Given the description of an element on the screen output the (x, y) to click on. 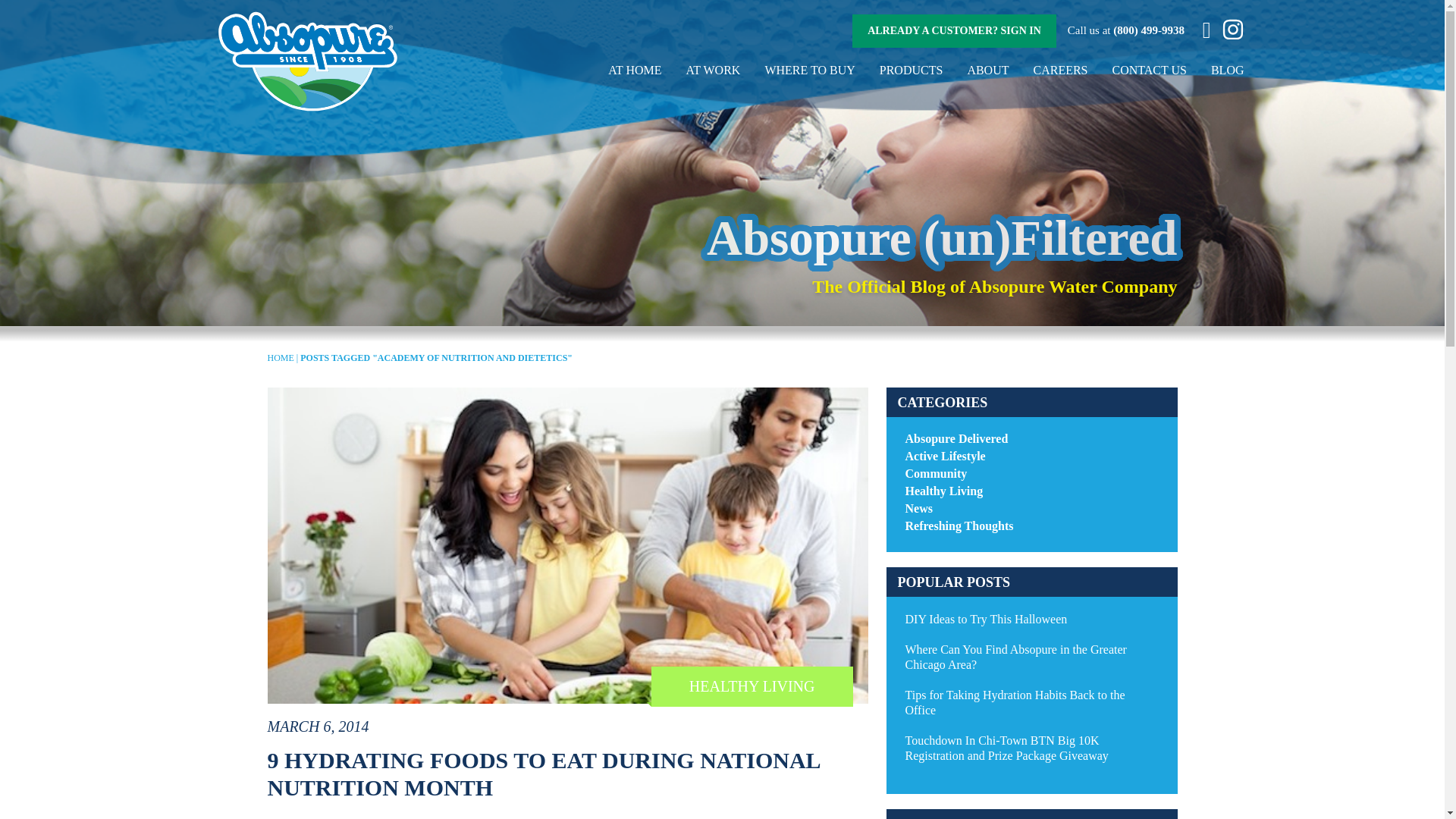
ABOUT (987, 70)
WHERE TO BUY (809, 70)
AT WORK (713, 70)
BLOG (1227, 70)
CAREERS (1059, 70)
HOME (280, 357)
ALREADY A CUSTOMER? SIGN IN (954, 30)
AT HOME (634, 70)
PRODUCTS (911, 70)
CONTACT US (1149, 70)
